Given the description of an element on the screen output the (x, y) to click on. 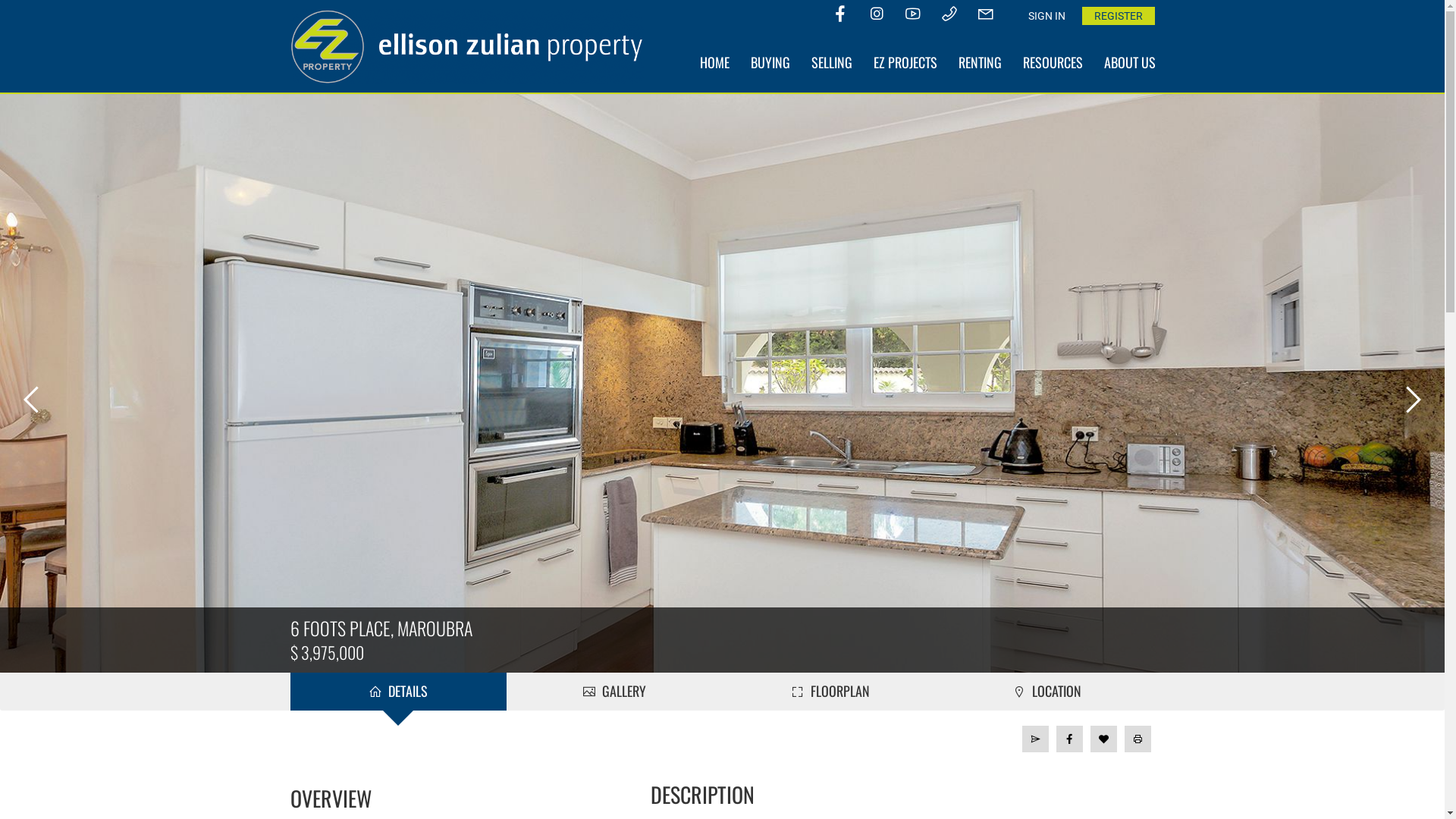
DETAILS Element type: text (397, 691)
GALLERY Element type: text (614, 691)
LOCATION Element type: text (1046, 691)
Email to Friend Element type: hover (1035, 738)
SELLING Element type: text (831, 61)
BUYING Element type: text (770, 61)
FLOORPLAN Element type: text (829, 691)
EZ PROJECTS Element type: text (904, 61)
ABOUT US Element type: text (1129, 61)
HOME Element type: text (713, 61)
SIGN IN Element type: text (1046, 15)
RENTING Element type: text (979, 61)
RESOURCES Element type: text (1051, 61)
REGISTER Element type: text (1117, 15)
